Given the description of an element on the screen output the (x, y) to click on. 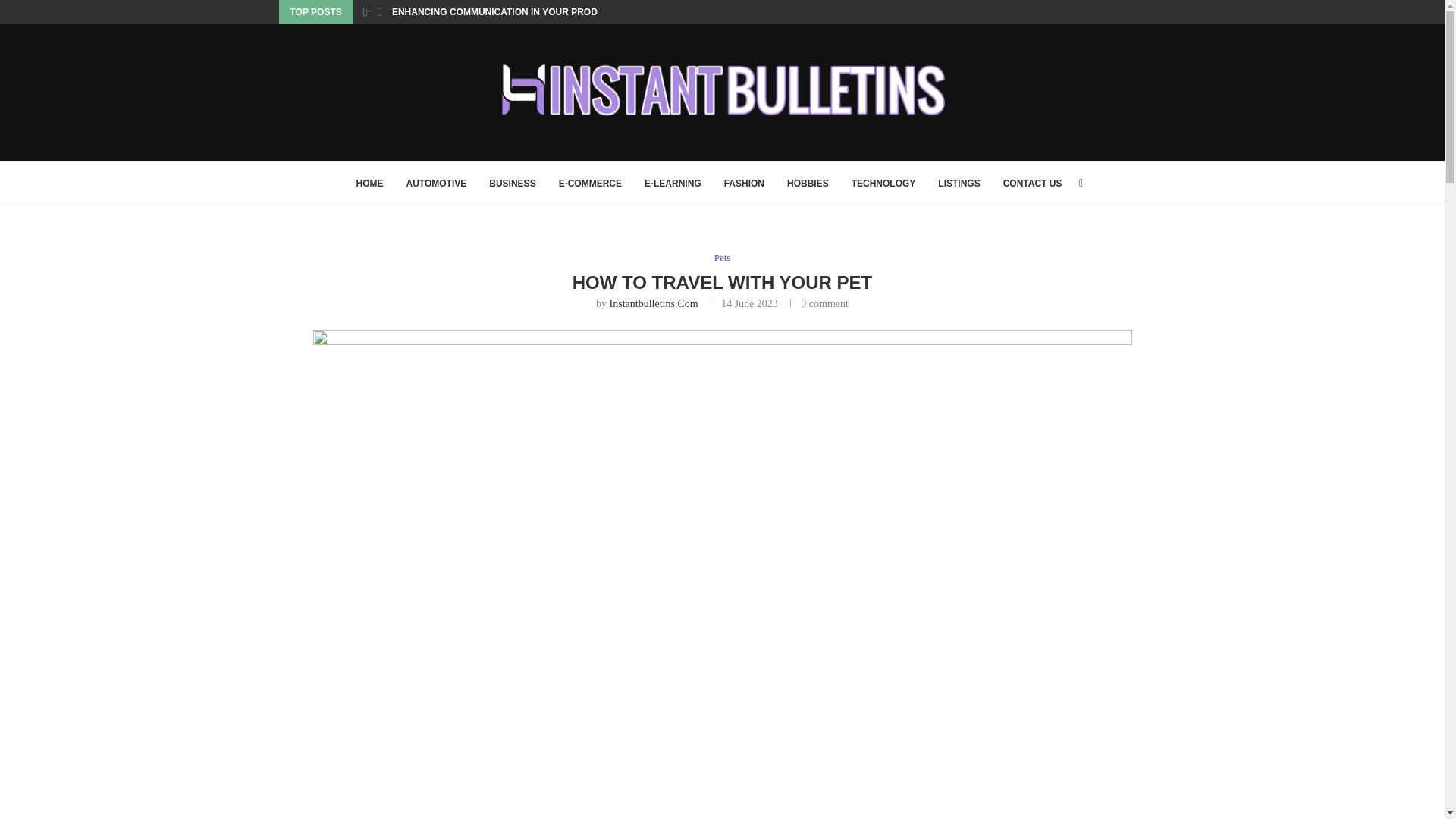
BUSINESS (512, 183)
ENHANCING COMMUNICATION IN YOUR PRODUCTION TEAM (526, 12)
FASHION (743, 183)
E-LEARNING (673, 183)
TECHNOLOGY (883, 183)
HOBBIES (807, 183)
Pets (722, 257)
E-COMMERCE (590, 183)
AUTOMOTIVE (436, 183)
LISTINGS (958, 183)
Instantbulletins.Com (654, 303)
CONTACT US (1032, 183)
